Given the description of an element on the screen output the (x, y) to click on. 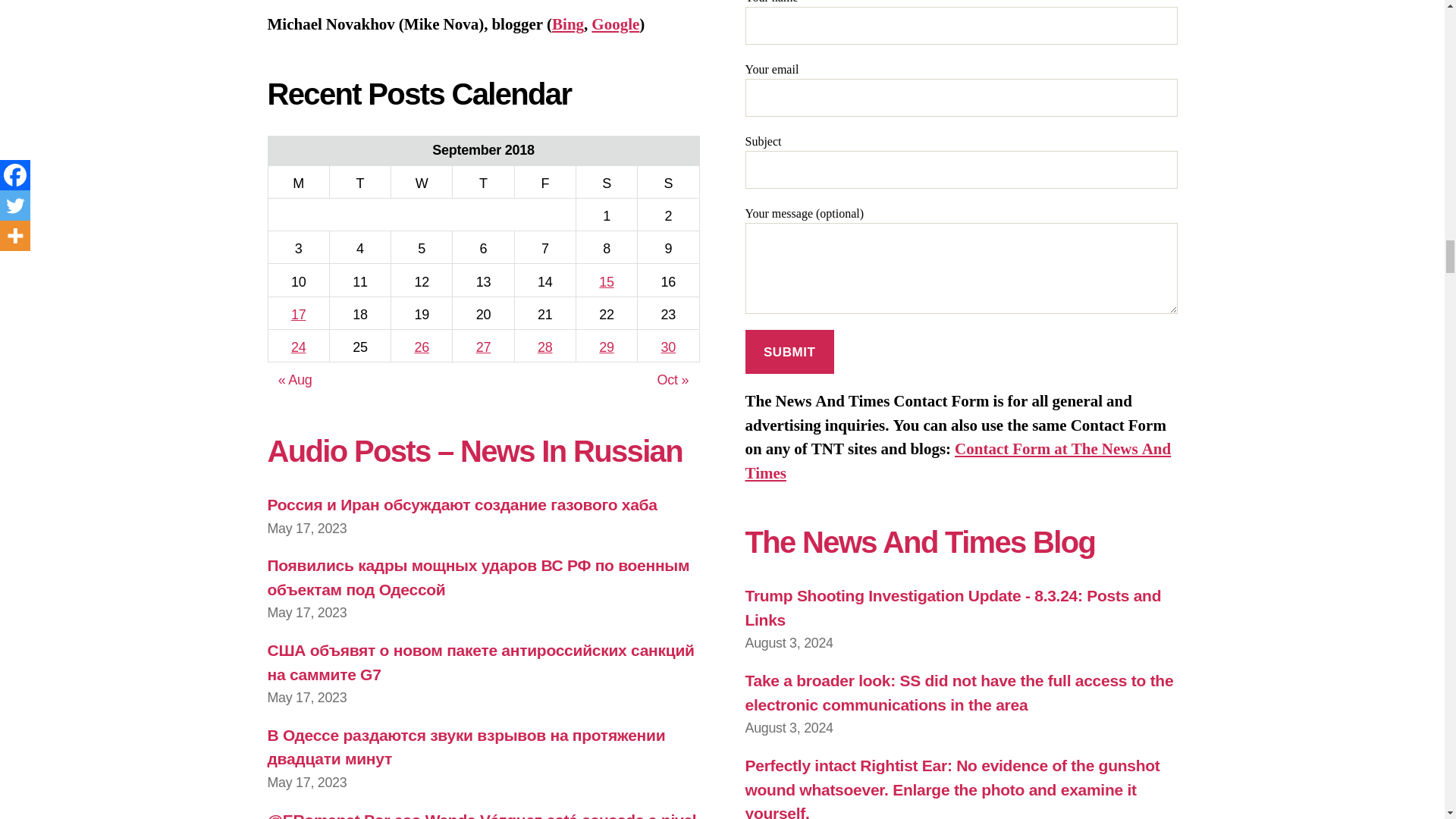
Thursday (482, 181)
Sunday (667, 181)
Submit (789, 352)
Tuesday (359, 181)
Friday (544, 181)
Saturday (606, 181)
Wednesday (421, 181)
Monday (298, 181)
